Given the description of an element on the screen output the (x, y) to click on. 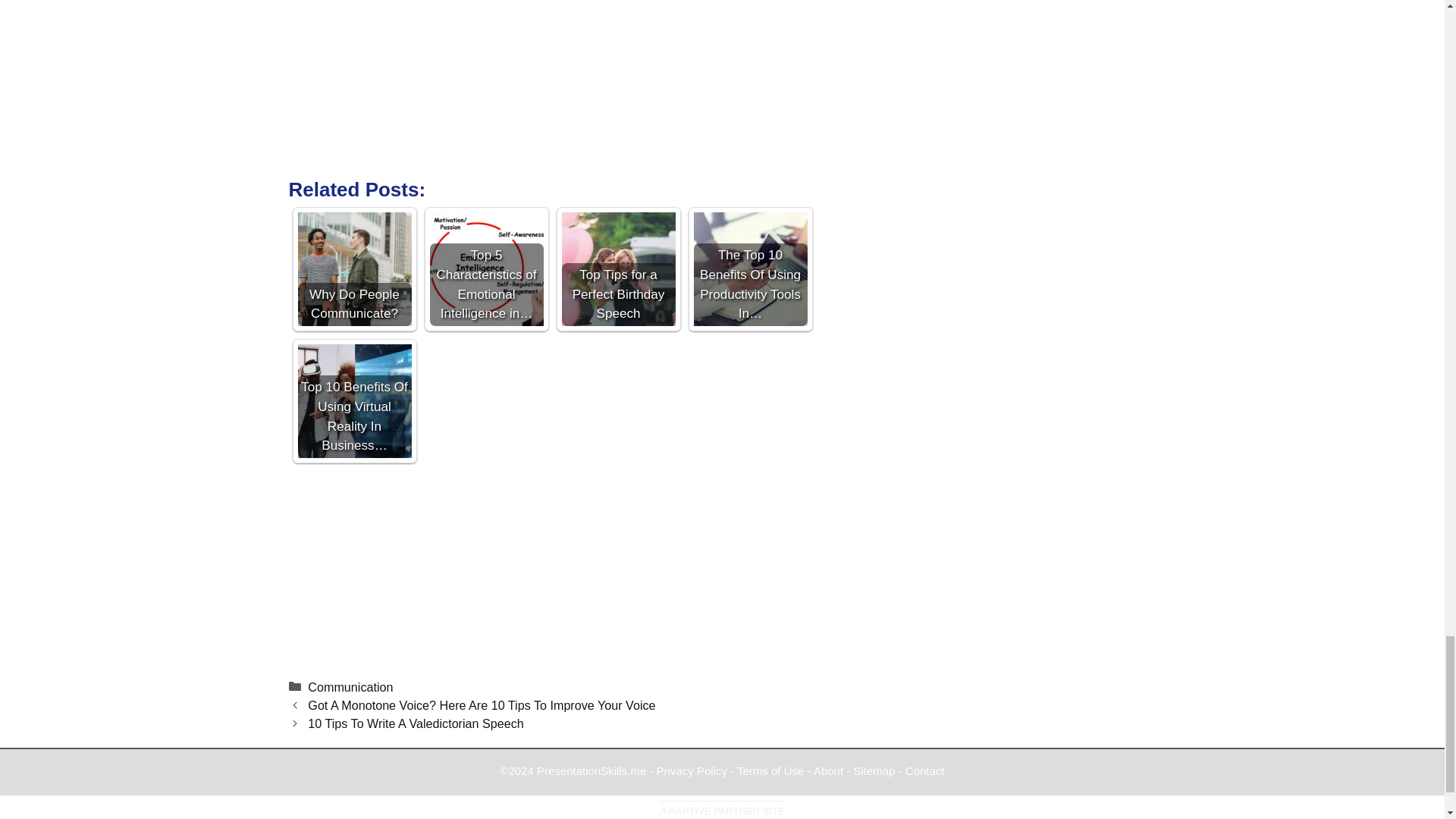
Communication (350, 686)
10 Tips To Write A Valedictorian Speech (414, 723)
Terms of Use (769, 770)
Got A Monotone Voice? Here Are 10 Tips To Improve Your Voice (481, 704)
Top Tips for a Perfect Birthday Speech (617, 268)
Why Do People Communicate? (353, 268)
About (828, 770)
Top Tips for a Perfect Birthday Speech (617, 268)
Privacy Policy (691, 770)
Why Do People Communicate? (353, 268)
